Given the description of an element on the screen output the (x, y) to click on. 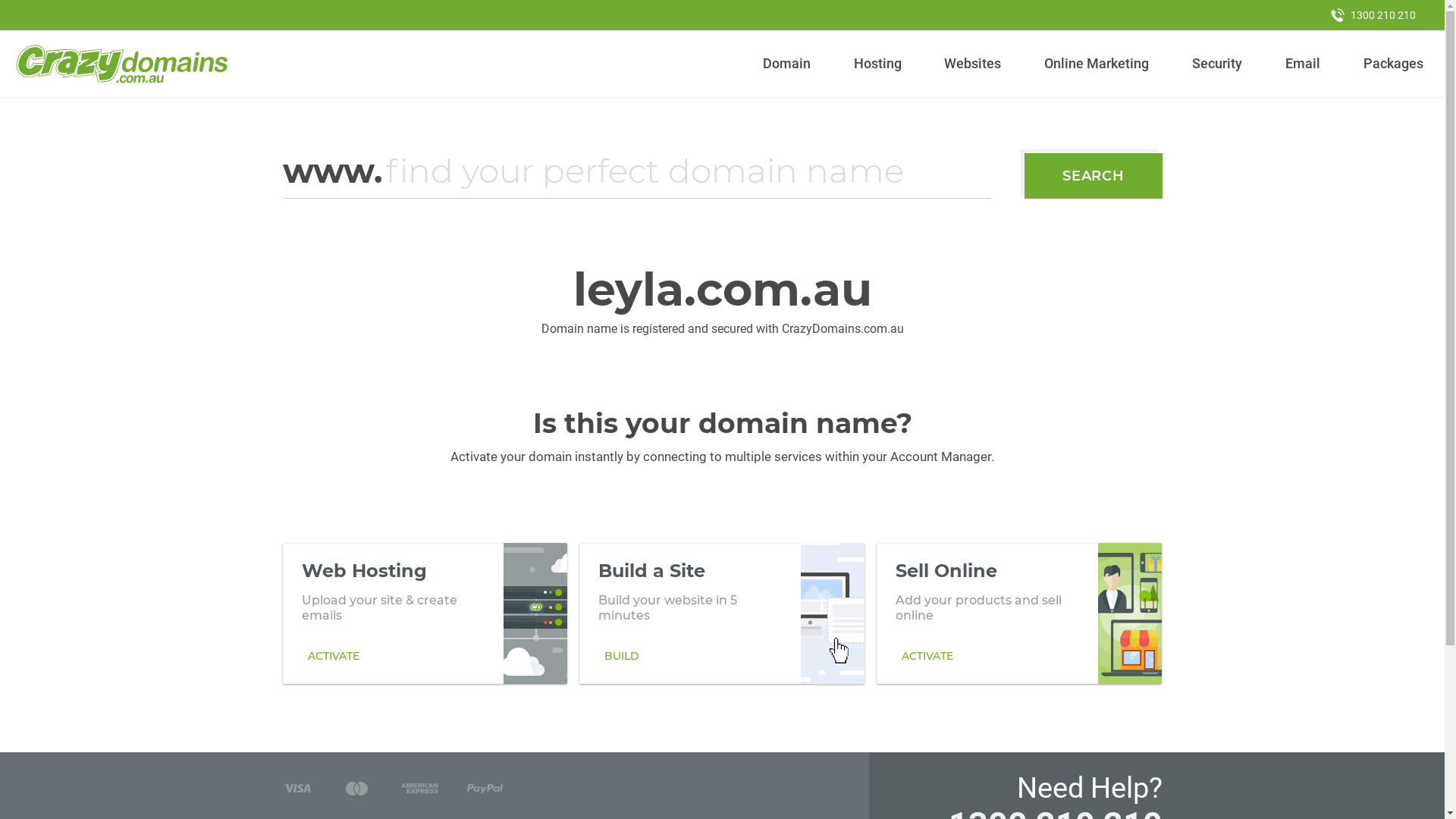
1300 210 210 Element type: text (1373, 15)
Online Marketing Element type: text (1096, 63)
Domain Element type: text (786, 63)
Build a Site
Build your website in 5 minutes
BUILD Element type: text (721, 613)
Sell Online
Add your products and sell online
ACTIVATE Element type: text (1018, 613)
Hosting Element type: text (877, 63)
Packages Element type: text (1392, 63)
SEARCH Element type: text (1092, 175)
Websites Element type: text (972, 63)
Email Element type: text (1302, 63)
Web Hosting
Upload your site & create emails
ACTIVATE Element type: text (424, 613)
Security Element type: text (1217, 63)
